Given the description of an element on the screen output the (x, y) to click on. 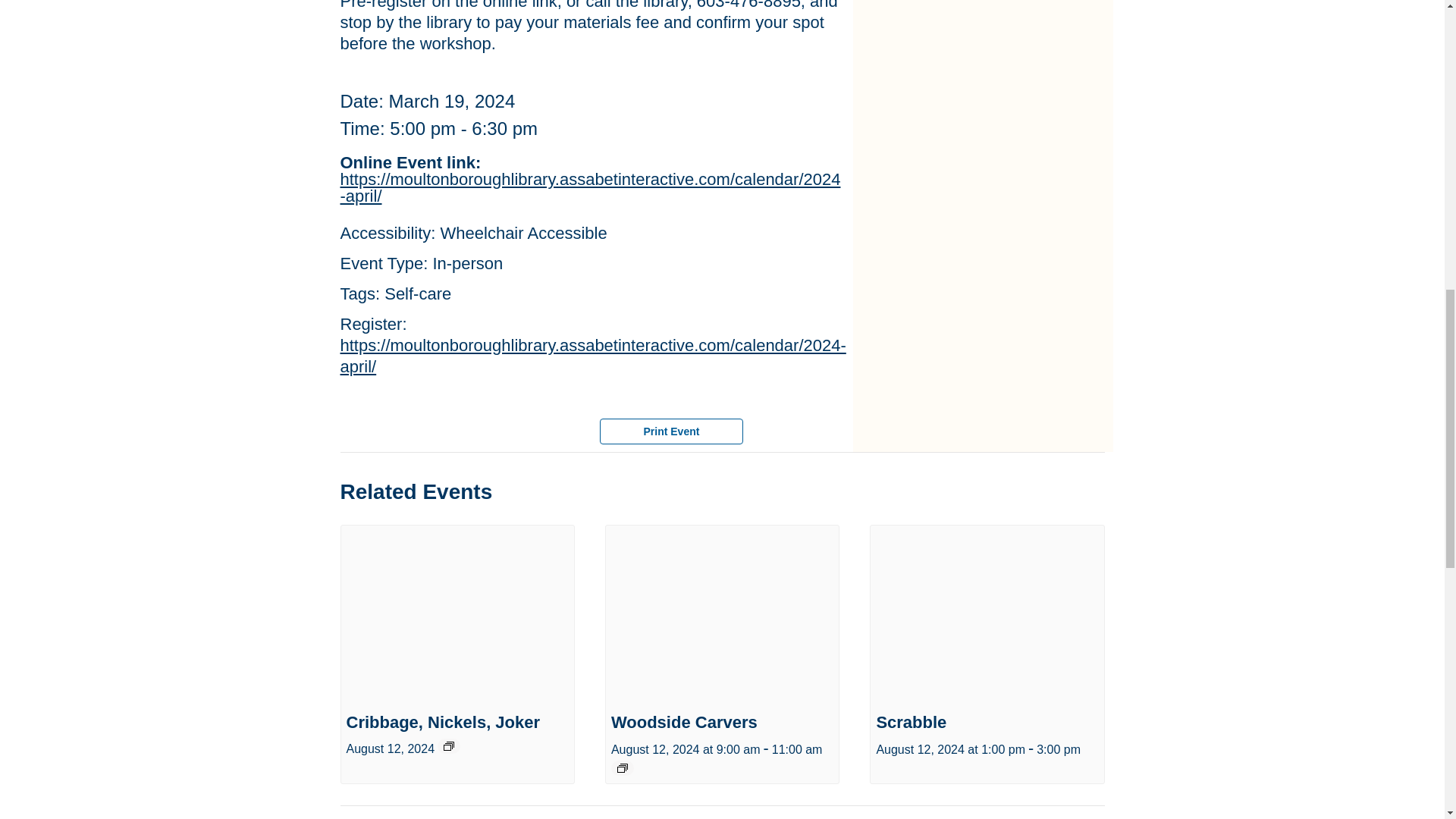
Print Event (670, 431)
2024-03-19 (463, 127)
2024-03-19 (449, 100)
